Given the description of an element on the screen output the (x, y) to click on. 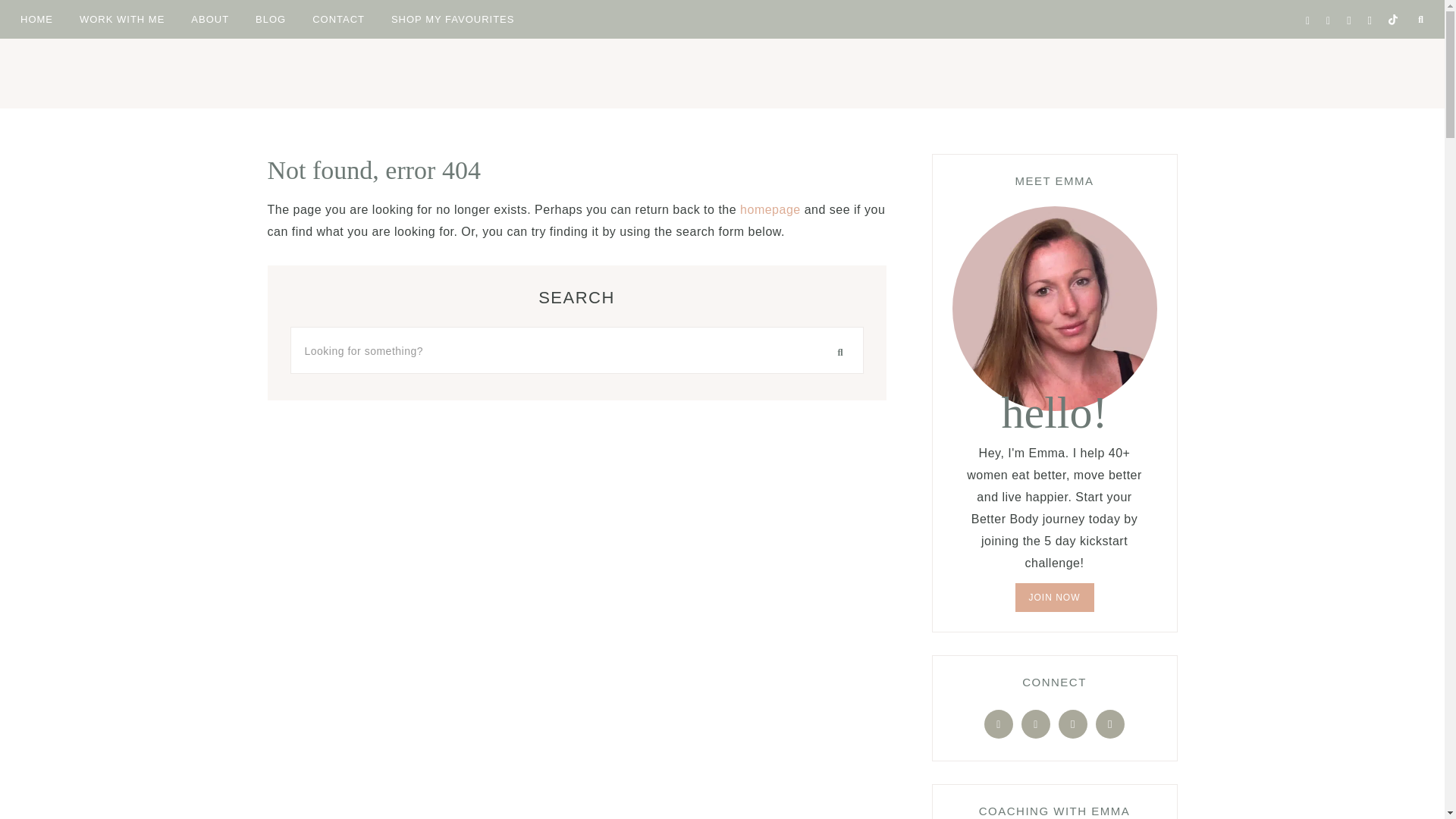
homepage (769, 209)
ABOUT (209, 18)
HOME (36, 18)
BLOG (270, 18)
JOIN NOW (1053, 597)
CONTACT (338, 18)
WORK WITH ME (122, 18)
SHOP MY FAVOURITES (452, 18)
